Given the description of an element on the screen output the (x, y) to click on. 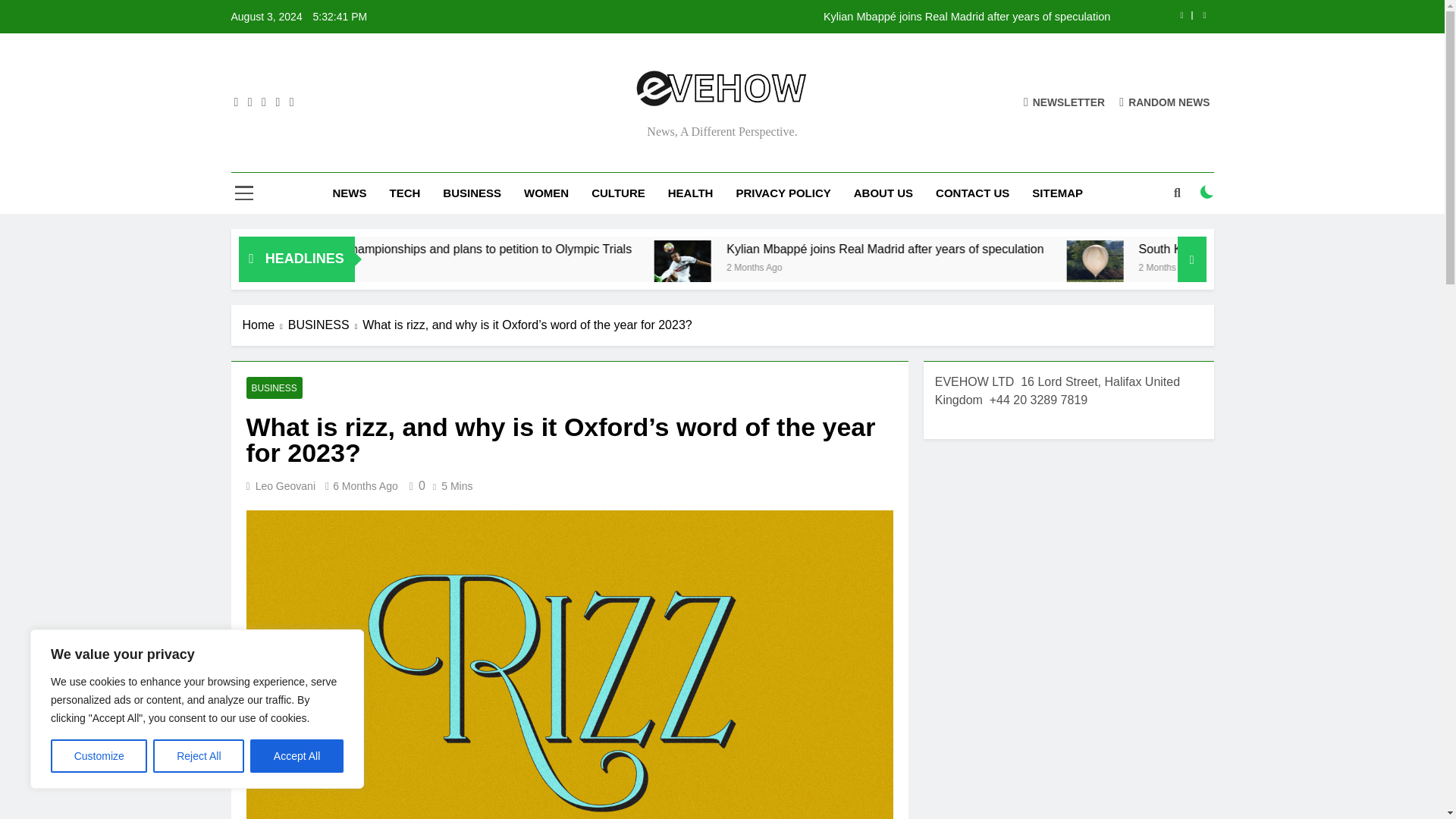
Accept All (296, 756)
EVEHOW (559, 132)
RANDOM NEWS (1164, 101)
NEWS (348, 192)
Reject All (198, 756)
TECH (403, 192)
NEWSLETTER (1064, 101)
Customize (98, 756)
on (1206, 192)
BUSINESS (471, 192)
